Given the description of an element on the screen output the (x, y) to click on. 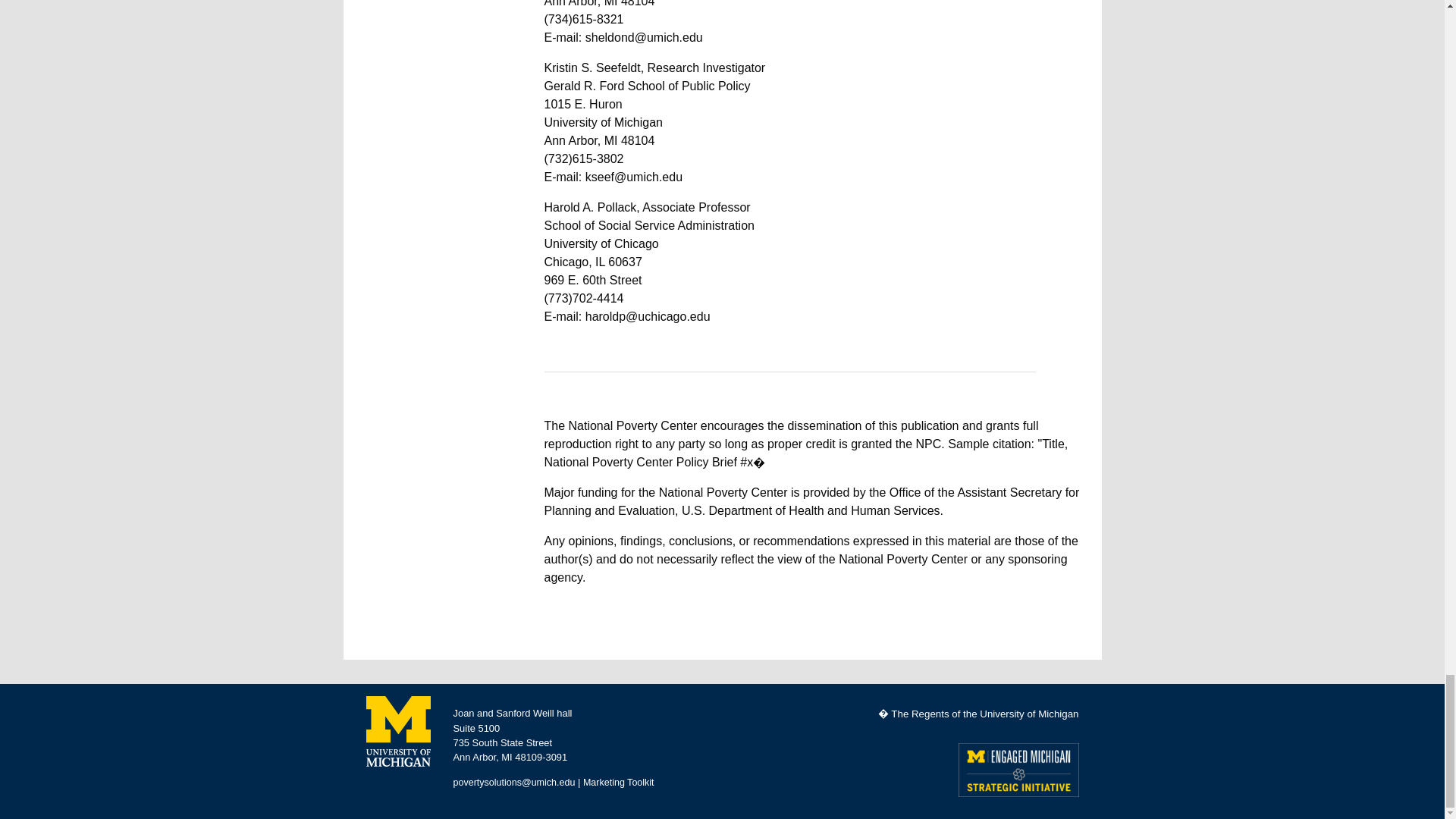
University of Michigan (397, 730)
The Regents of the University of Michigan (984, 713)
University of Michigan (397, 730)
Marketing Toolkit (618, 782)
The Regents of the University of Michigan (984, 713)
